Given the description of an element on the screen output the (x, y) to click on. 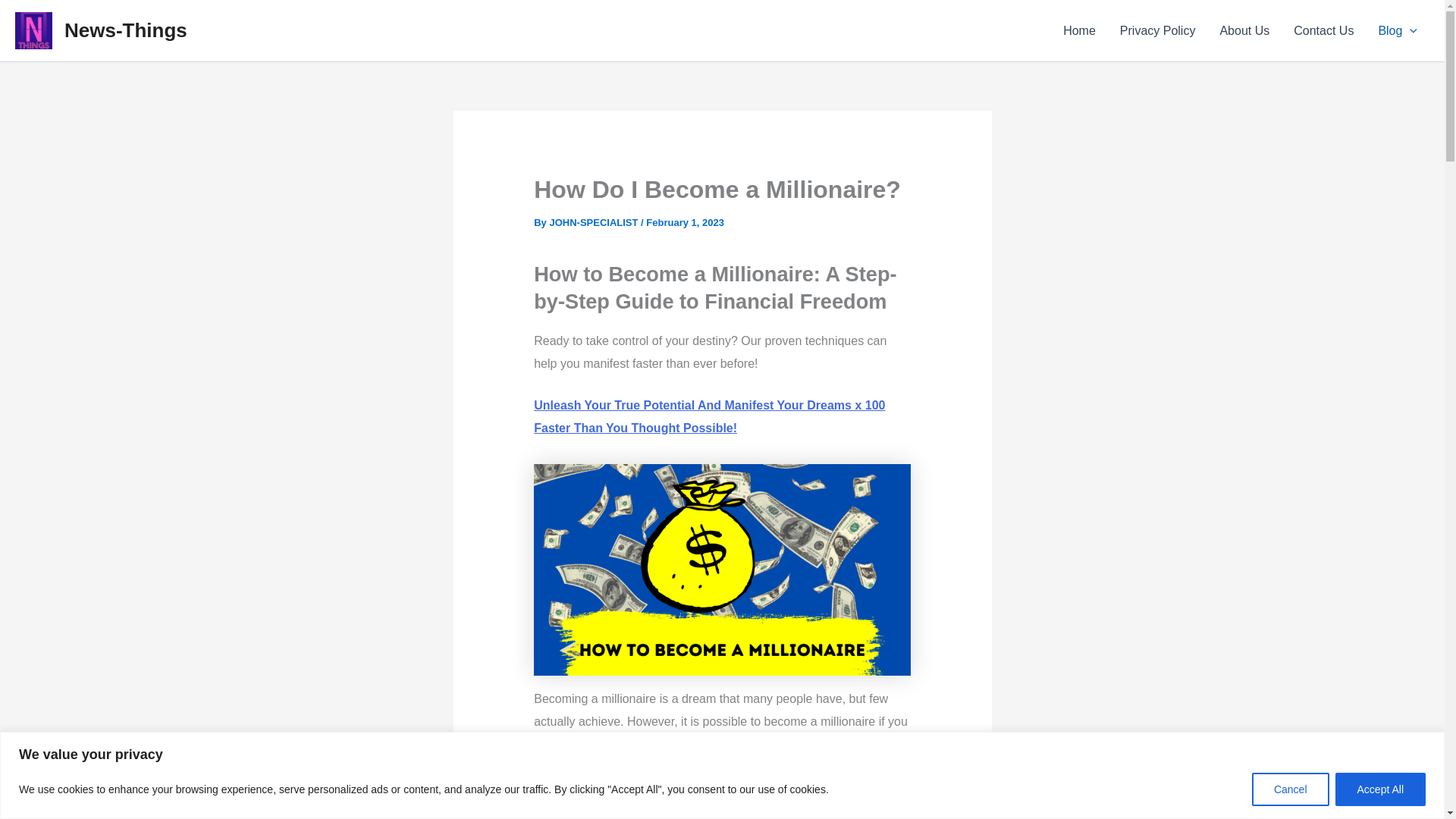
Home (1079, 30)
Cancel (1290, 788)
Contact Us (1323, 30)
News-Things (125, 29)
View all posts by JOHN-SPECIALIST (594, 222)
About Us (1244, 30)
how to become a millionaire (722, 569)
Accept All (1380, 788)
Privacy Policy (1158, 30)
Blog (1397, 30)
